Given the description of an element on the screen output the (x, y) to click on. 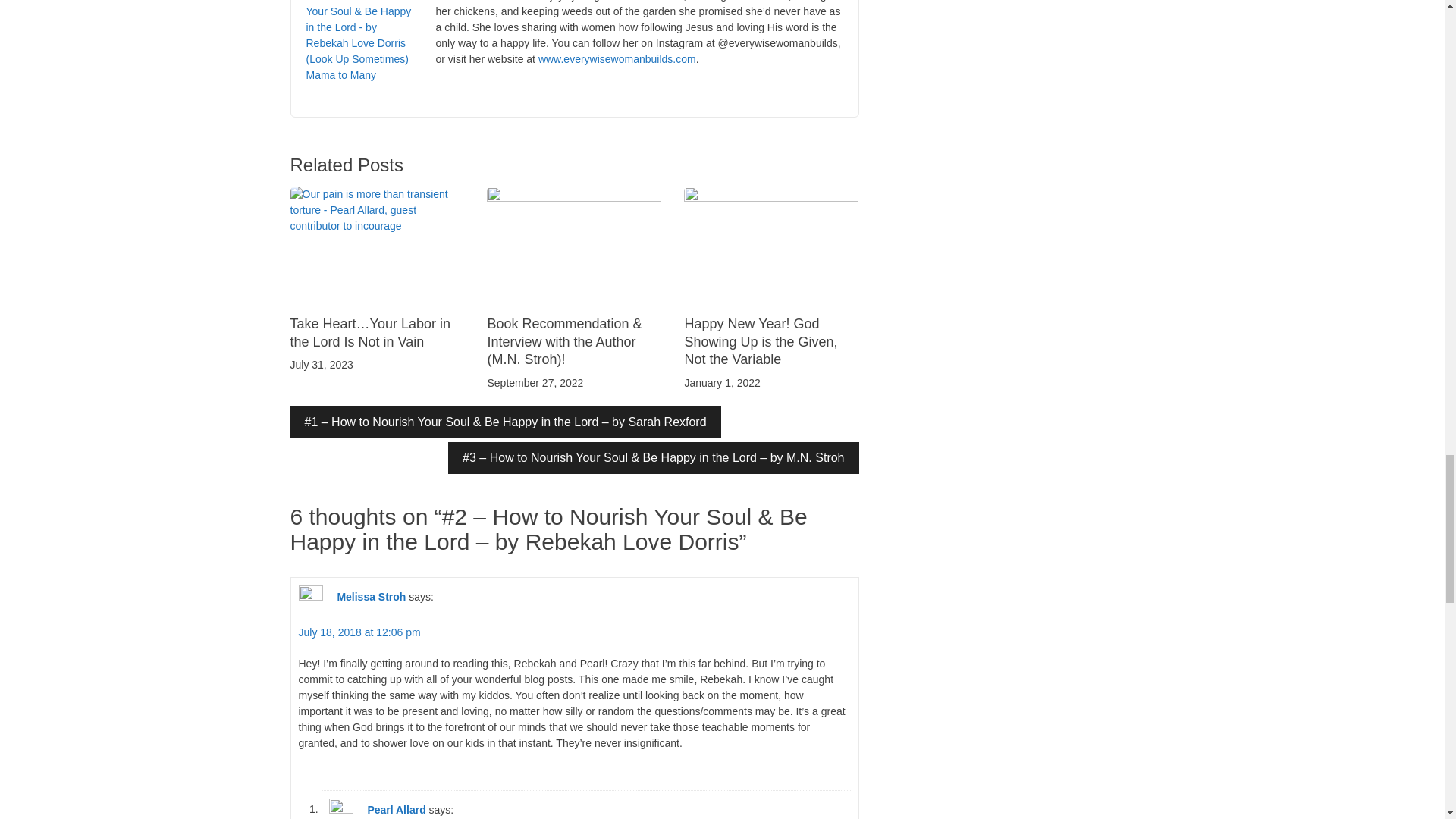
Pearl Allard (395, 808)
www.everywisewomanbuilds.com (616, 59)
Melissa Stroh (371, 595)
July 18, 2018 at 12:06 pm (359, 632)
